Given the description of an element on the screen output the (x, y) to click on. 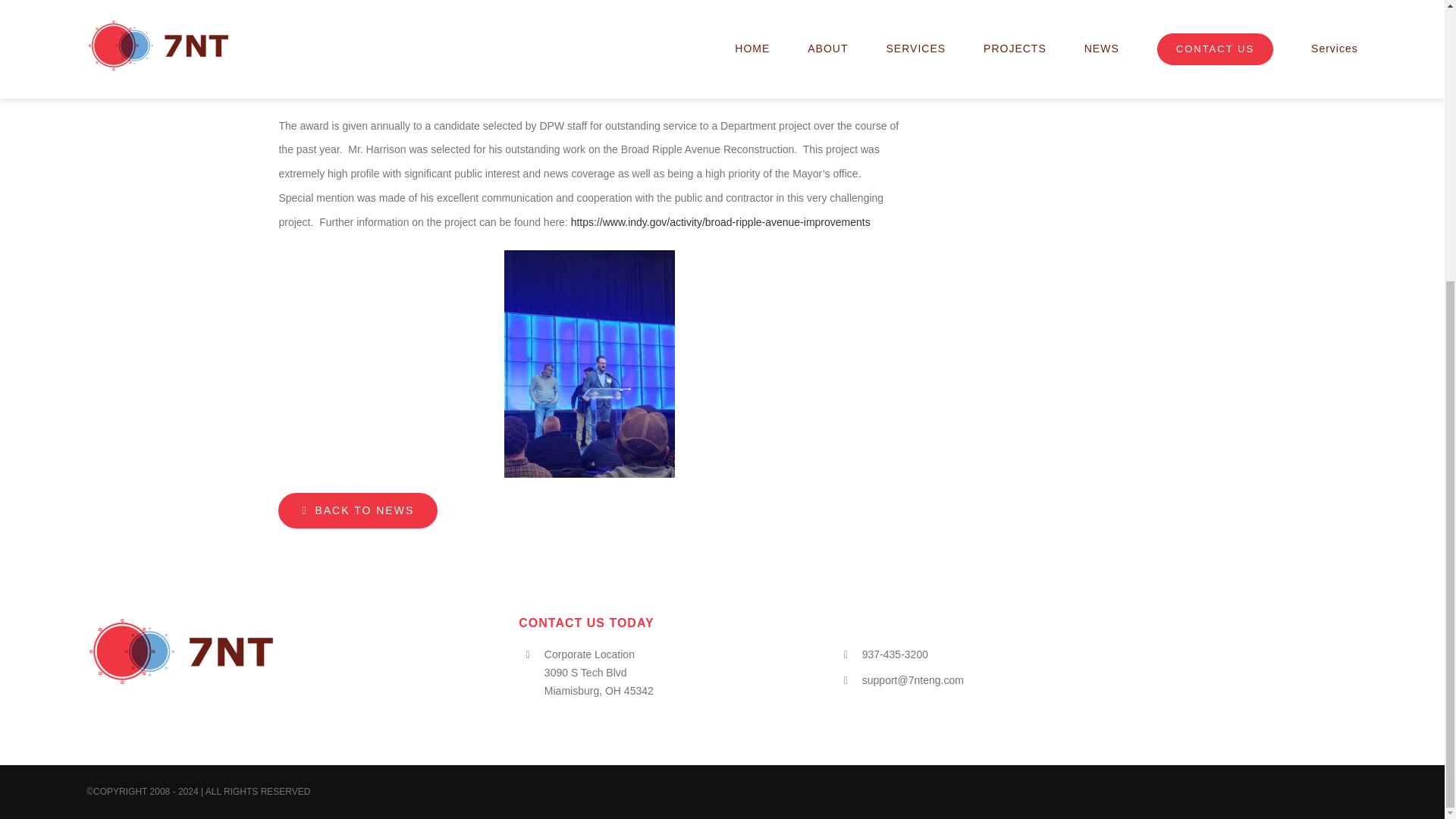
BACK TO NEWS (358, 510)
